Given the description of an element on the screen output the (x, y) to click on. 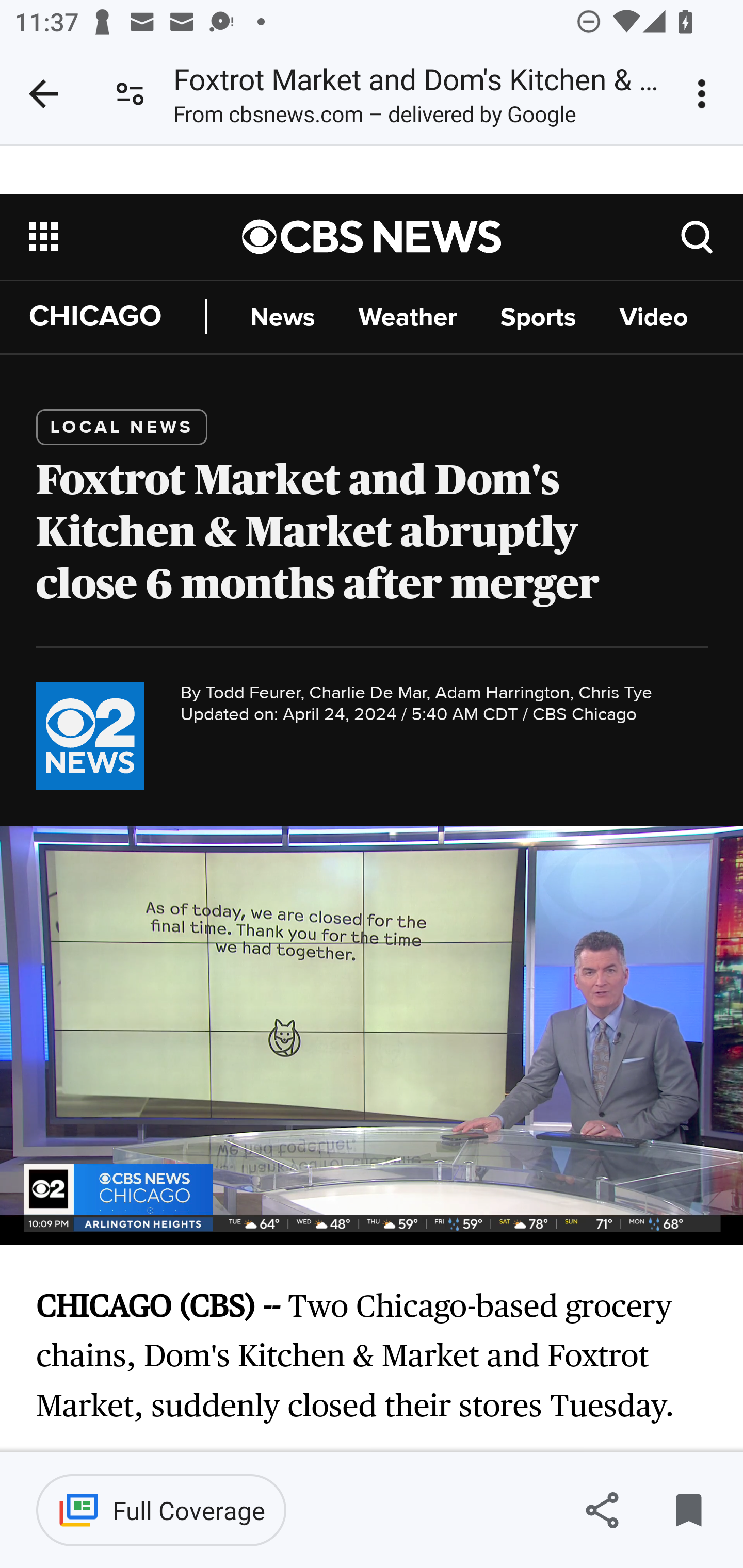
Close tab (43, 93)
Customize and control Google Chrome (705, 93)
Connection is secure (129, 93)
From cbsnews.com – delivered by Google (374, 117)
?ftag=CNM-00-10aab4i (697, 236)
Go to CBS News National home page (372, 236)
Open the site navigation (135, 236)
CHICAGO (117, 316)
News (281, 317)
Weather (407, 317)
Sports (538, 317)
Video (653, 317)
LOCAL NEWS (122, 426)
chicago (90, 735)
Full Coverage (161, 1509)
Share (601, 1510)
Remove from saved stories (688, 1510)
